Given the description of an element on the screen output the (x, y) to click on. 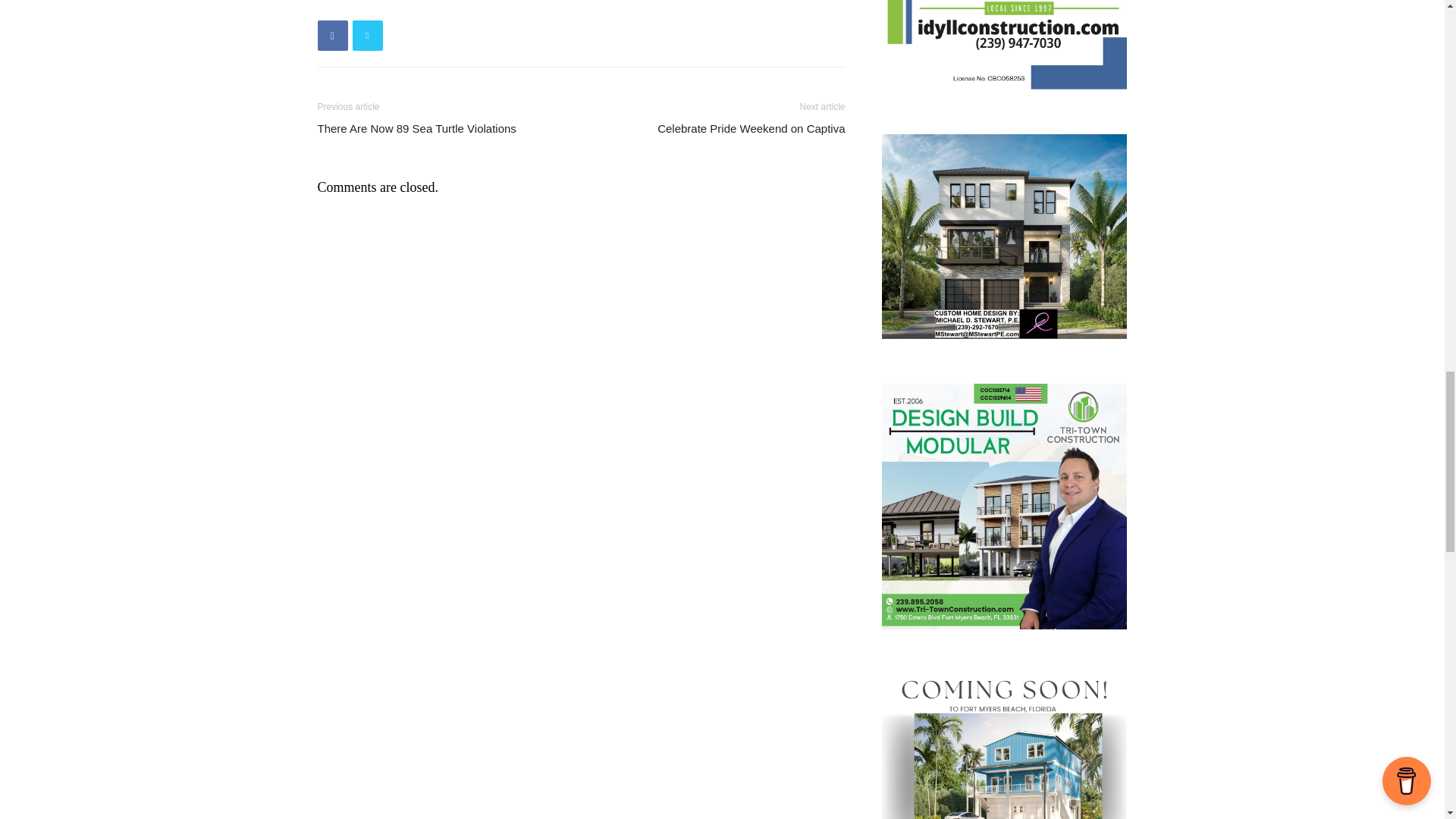
Twitter (366, 35)
Facebook (332, 35)
There Are Now 89 Sea Turtle Violations (416, 128)
Celebrate Pride Weekend on Captiva (751, 128)
